Given the description of an element on the screen output the (x, y) to click on. 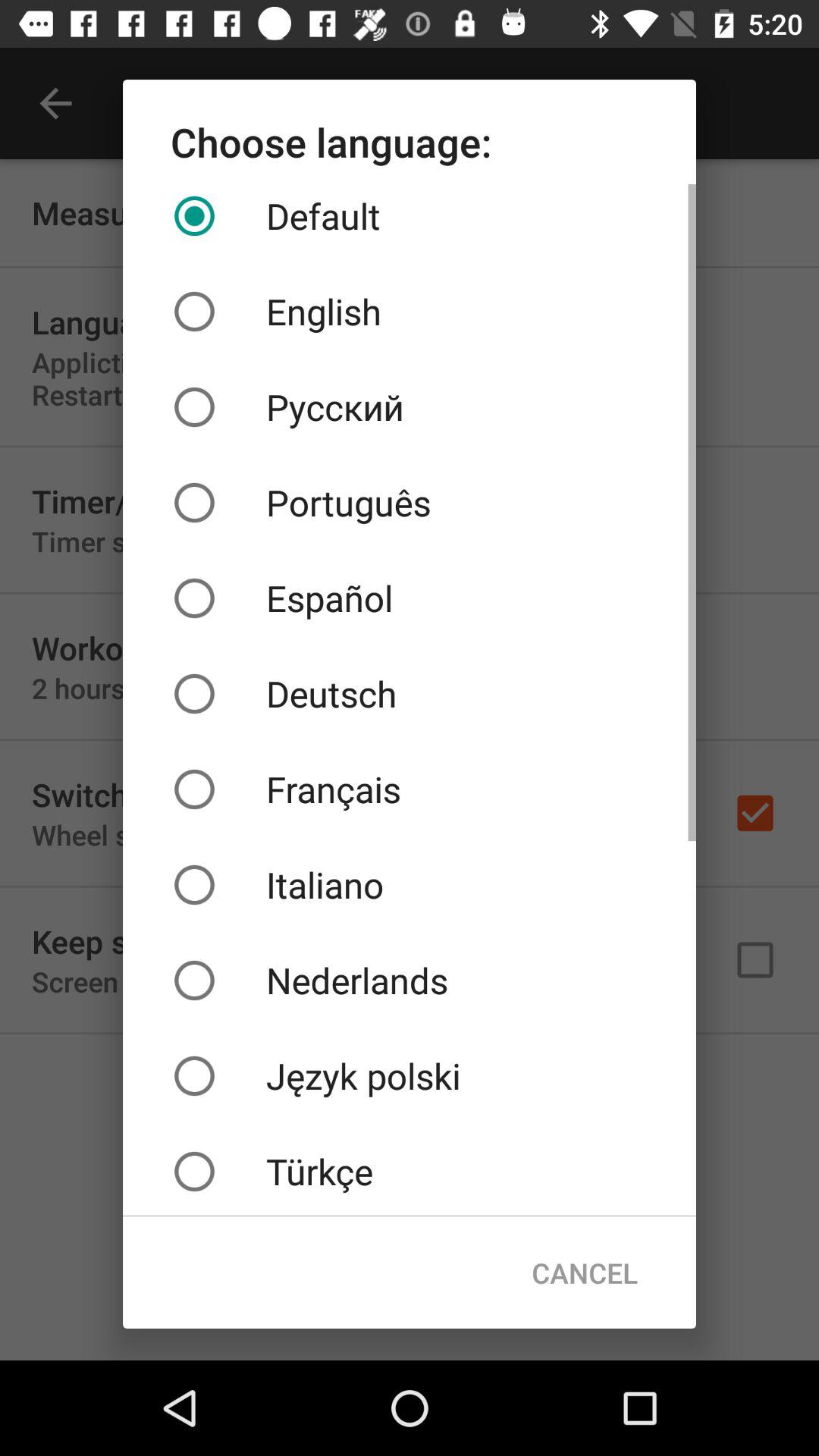
press cancel item (584, 1272)
